Given the description of an element on the screen output the (x, y) to click on. 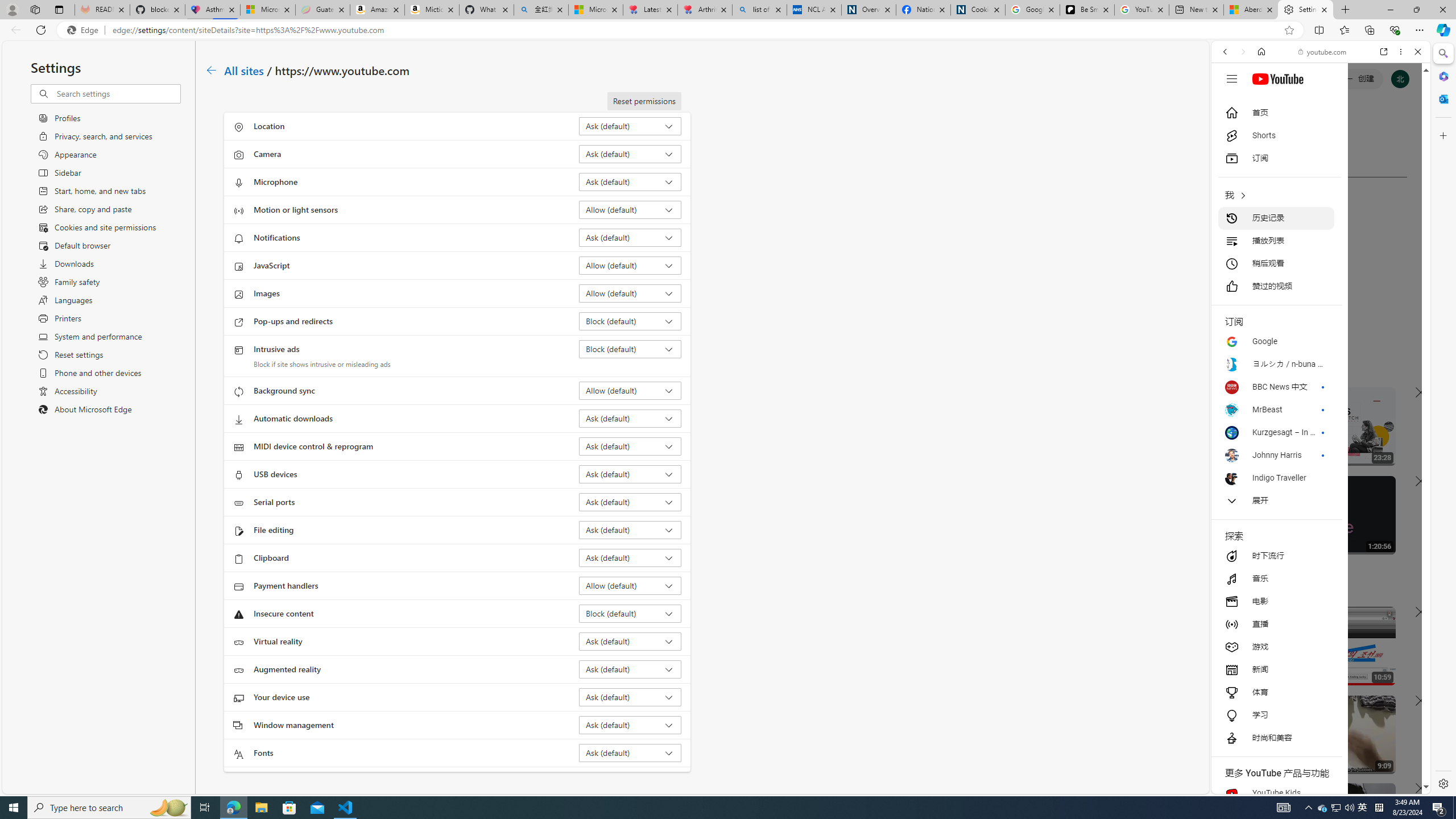
Images Allow (default) (630, 293)
Trailer #2 [HD] (1320, 336)
Motion or light sensors Allow (default) (630, 209)
Window management Ask (default) (630, 724)
